Given the description of an element on the screen output the (x, y) to click on. 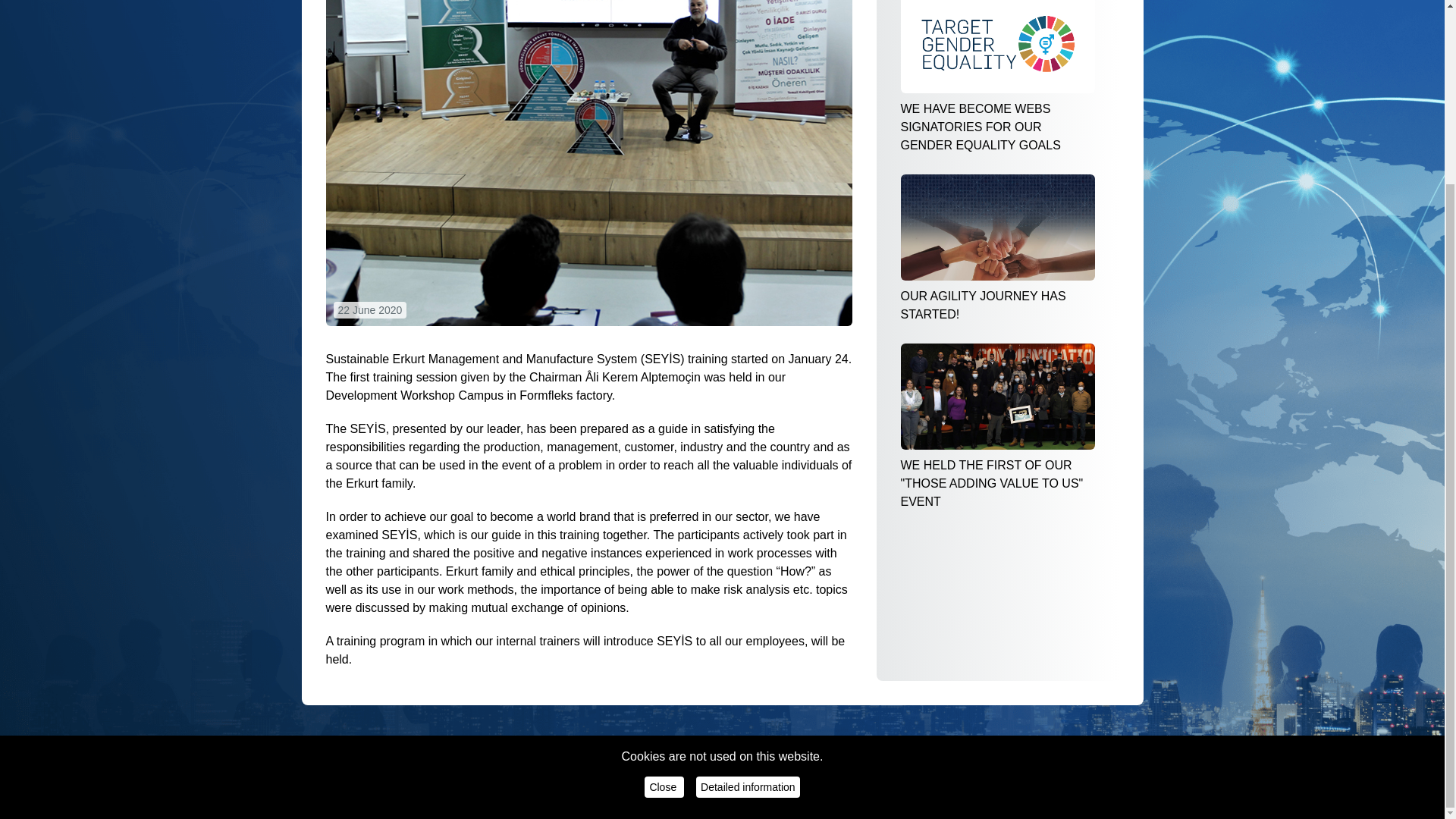
OUR AGILITY JOURNEY HAS STARTED! (997, 248)
Contact (929, 776)
Close (664, 559)
Personal Data Protection (557, 776)
WE HELD THE FIRST OF OUR "THOSE ADDING VALUE TO US" EVENT (997, 427)
Information Society Services (694, 776)
Detailed information (747, 559)
Company Introduction Film (834, 776)
